Given the description of an element on the screen output the (x, y) to click on. 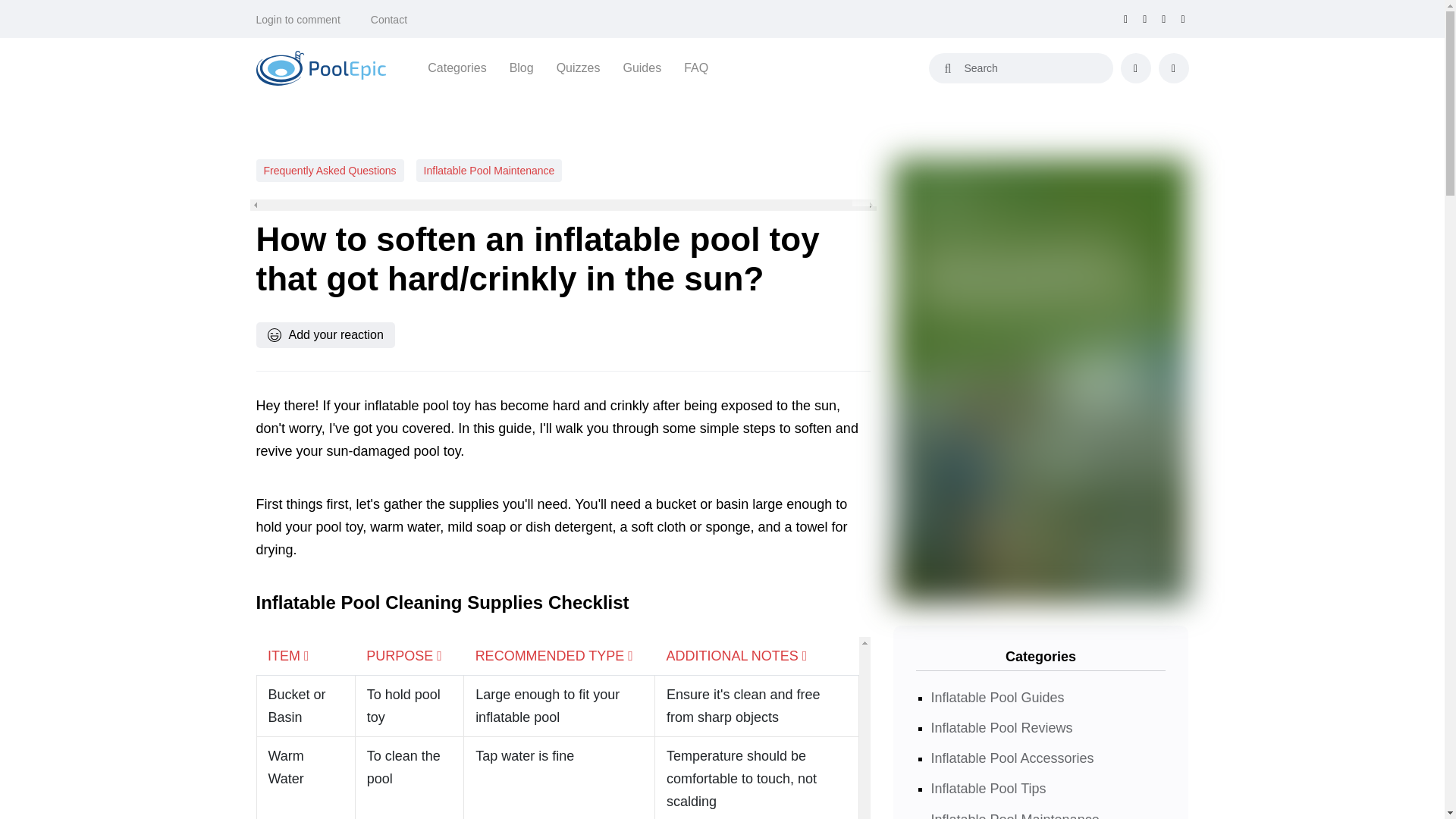
Login to comment (298, 19)
Contact (389, 19)
Categories (457, 67)
